Given the description of an element on the screen output the (x, y) to click on. 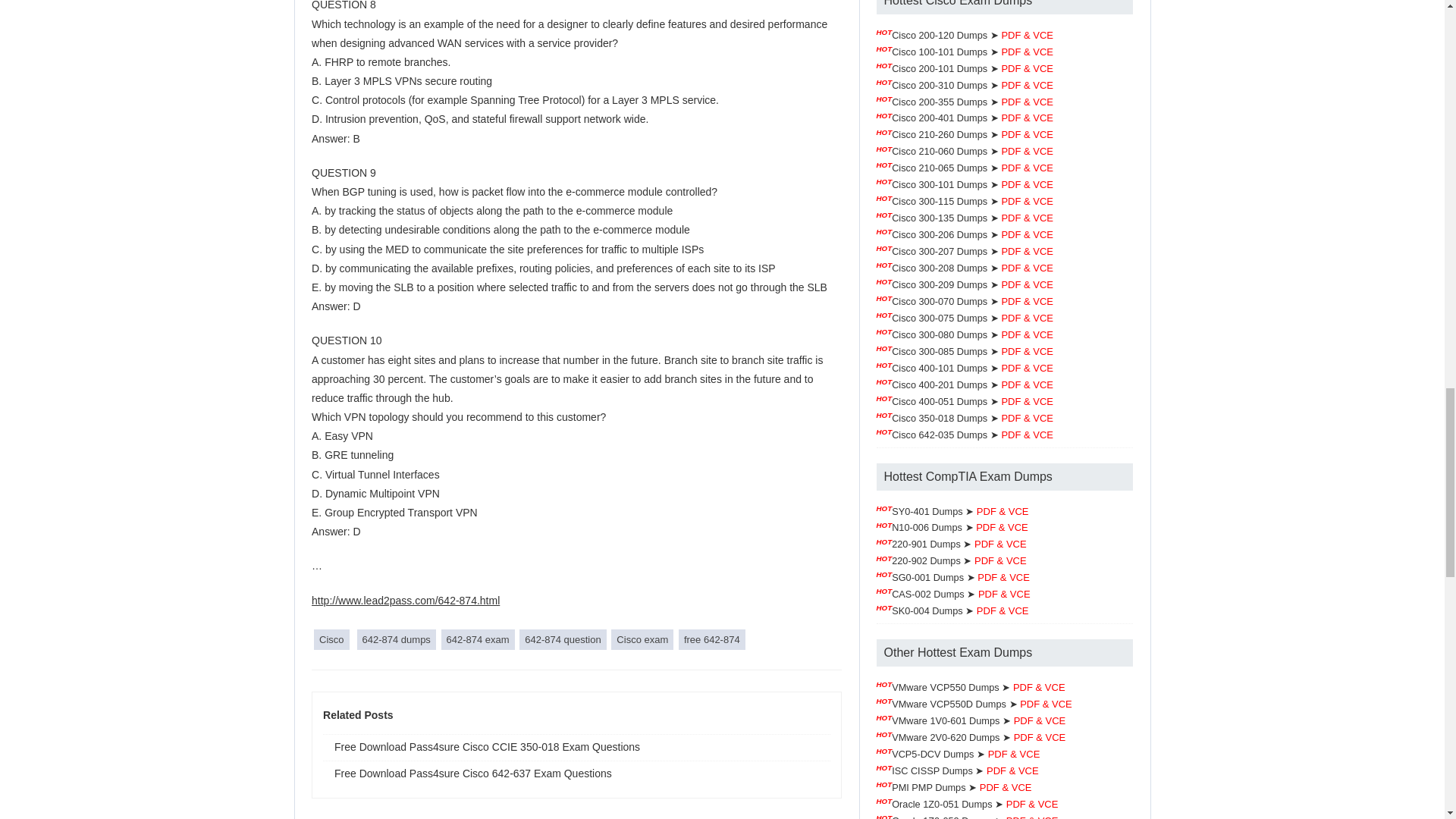
Cisco exam (641, 639)
642-874 question (562, 639)
Cisco (331, 639)
642-874 exam (478, 639)
Free Download Pass4sure Cisco CCIE 350-018 Exam Questions (576, 746)
free 642-874 (711, 639)
Free Download Pass4sure Cisco 642-637 Exam Questions (576, 773)
642-874 dumps (395, 639)
